Given the description of an element on the screen output the (x, y) to click on. 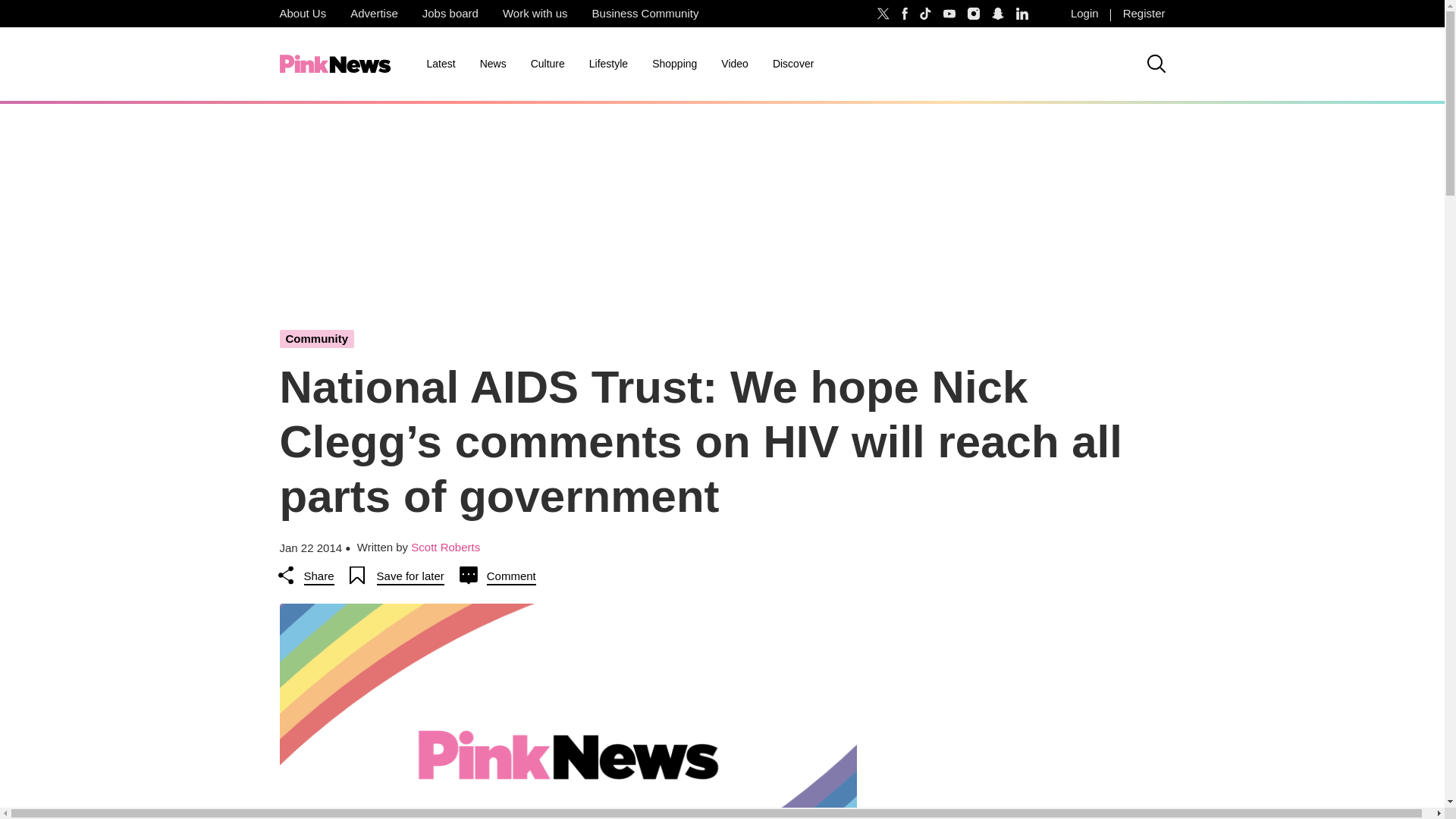
Latest (440, 63)
Business Community (645, 13)
News (493, 63)
Follow PinkNews on LinkedIn (1021, 13)
About Us (301, 13)
Culture (547, 63)
Register (1143, 13)
Lifestyle (608, 63)
Jobs board (450, 13)
Advertise (373, 13)
